Given the description of an element on the screen output the (x, y) to click on. 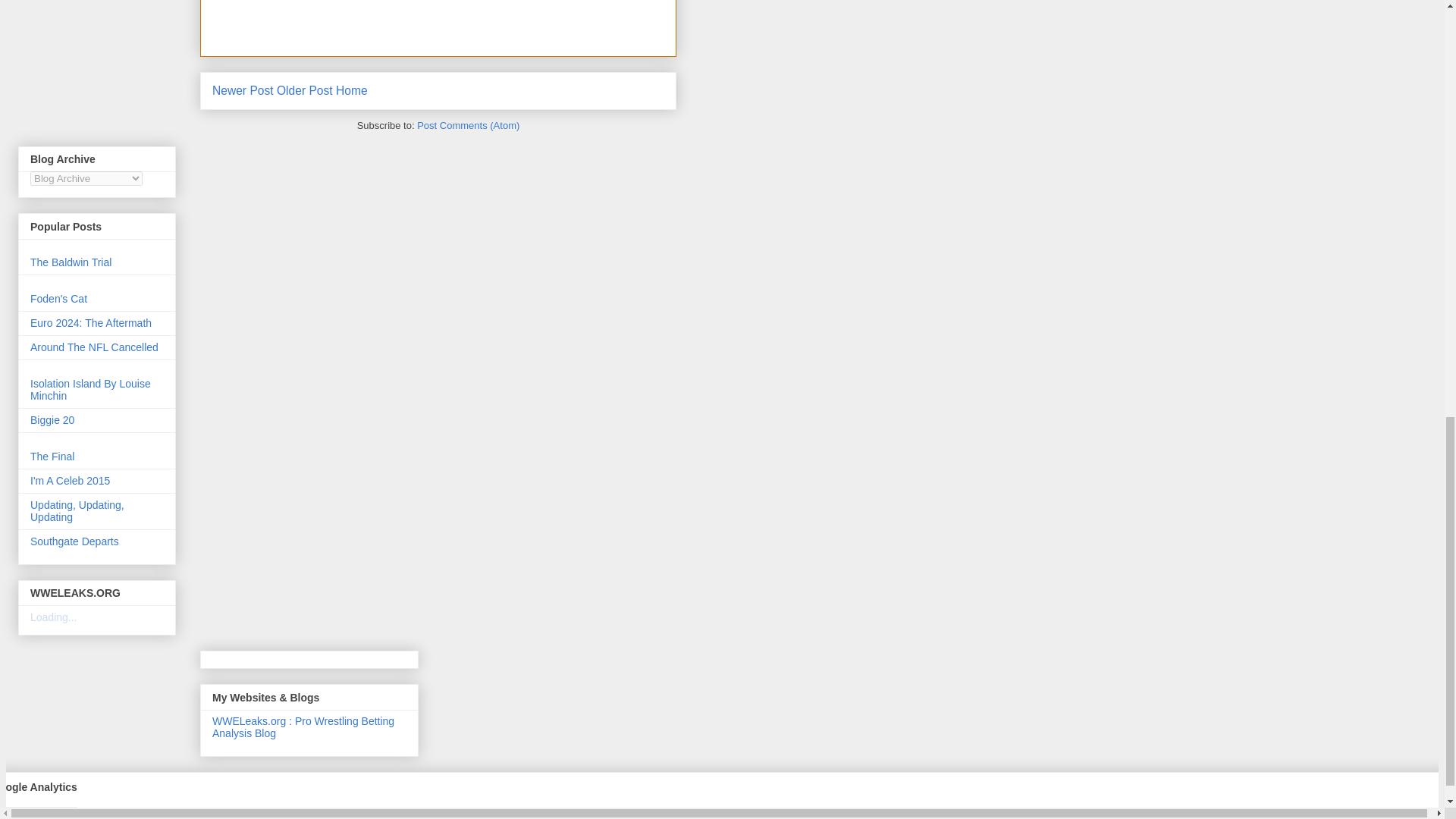
Loading... (53, 616)
Biggie 20 (52, 419)
Euro 2024: The Aftermath (90, 322)
Newer Post (242, 90)
Updating, Updating, Updating (76, 510)
Home (352, 90)
Older Post (304, 90)
I'm A Celeb 2015 (70, 480)
WWELeaks.org : Pro Wrestling Betting Analysis Blog (303, 726)
Newer Post (242, 90)
The Final (52, 456)
Foden's Cat (58, 298)
Around The NFL Cancelled (94, 346)
Southgate Departs (74, 541)
Older Post (304, 90)
